Given the description of an element on the screen output the (x, y) to click on. 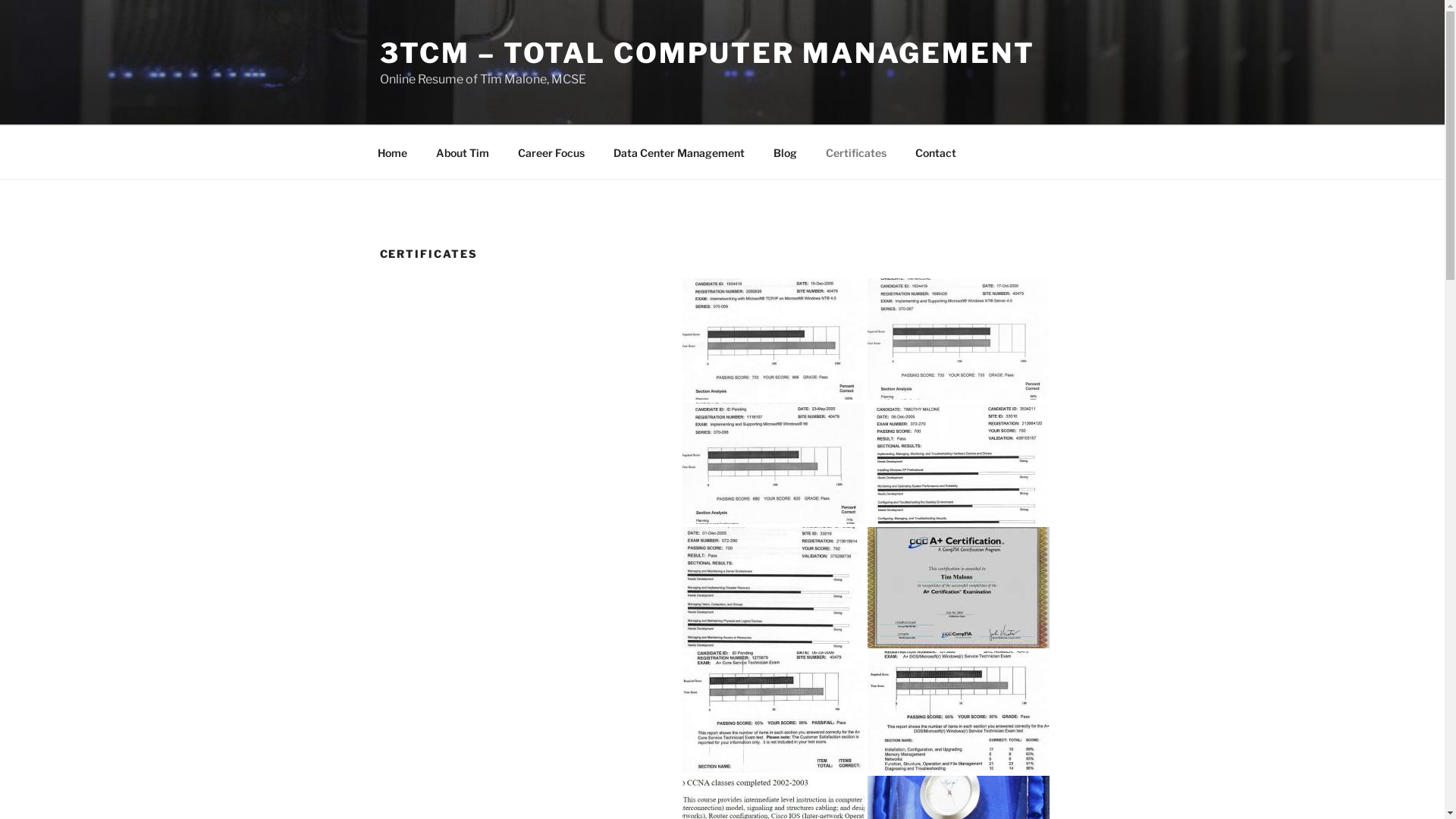
70-098_exam Element type: hover (773, 463)
adoswin_certif Element type: hover (958, 711)
Blog Element type: text (784, 151)
70-059_exam Element type: hover (773, 338)
70-290_exam Element type: hover (773, 587)
70-270_exam Element type: hover (958, 463)
Home Element type: text (392, 151)
About Tim Element type: text (462, 151)
acore_certif Element type: hover (773, 711)
70-067_exam Element type: hover (958, 338)
Contact Element type: text (935, 151)
Certificates Element type: text (856, 151)
Data Center Management Element type: text (679, 151)
Career Focus Element type: text (551, 151)
a2000 Element type: hover (958, 587)
